Given the description of an element on the screen output the (x, y) to click on. 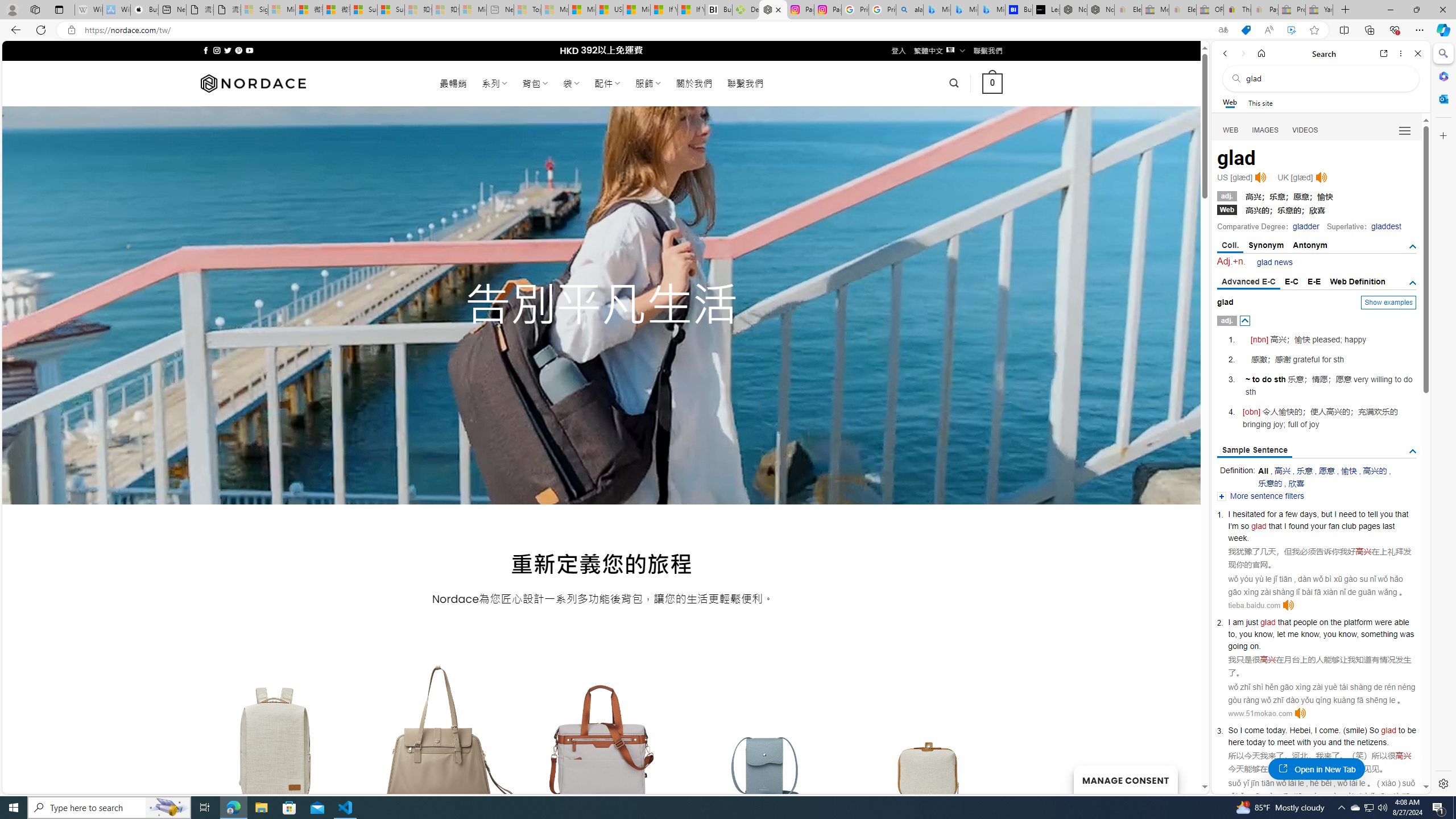
Top Stories - MSN - Sleeping (527, 9)
tell (1372, 513)
but (1326, 513)
tieba.baidu.com (1254, 605)
days (1308, 513)
just (1250, 621)
